Given the description of an element on the screen output the (x, y) to click on. 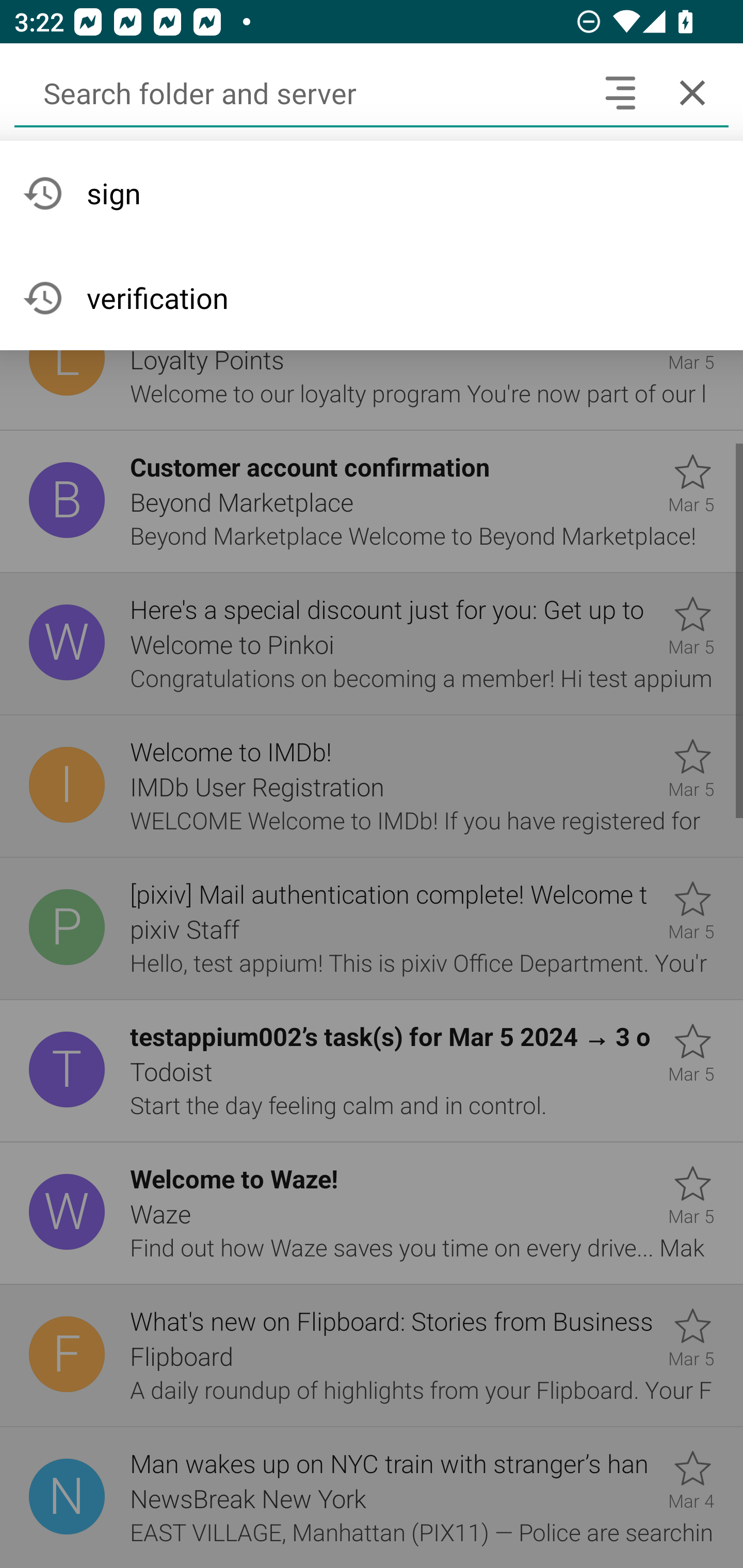
   Search folder and server (298, 92)
Search headers and text (619, 92)
Cancel (692, 92)
